Given the description of an element on the screen output the (x, y) to click on. 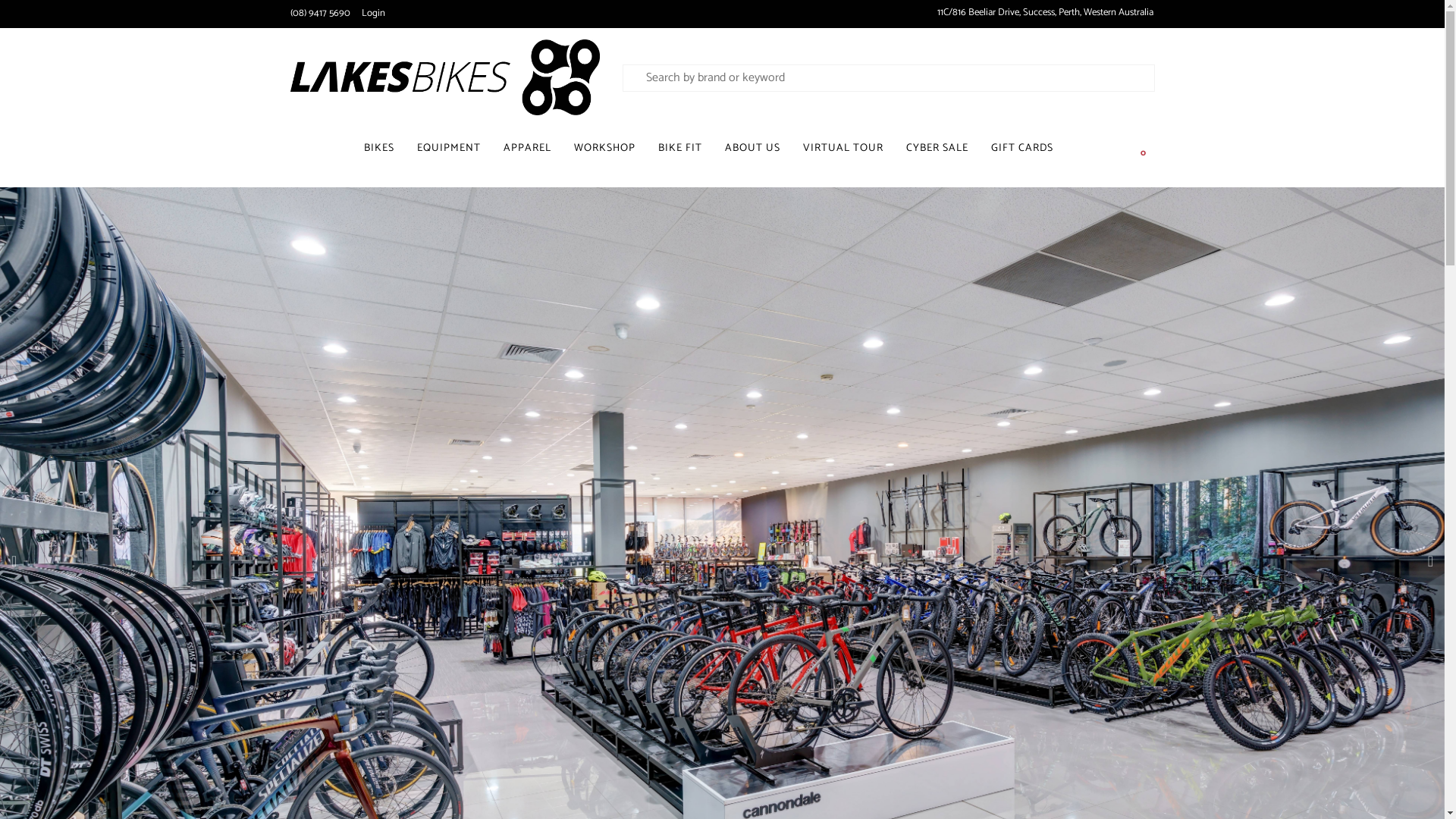
NEXT Element type: text (1395, 560)
GIFT CARDS Element type: text (1025, 152)
Login Element type: text (372, 13)
WORKSHOP Element type: text (607, 152)
EQUIPMENT Element type: text (452, 152)
CYBER SALE Element type: text (940, 152)
APPAREL Element type: text (530, 152)
0 Element type: text (1142, 151)
ABOUT US Element type: text (755, 152)
VIRTUAL TOUR Element type: text (846, 152)
BIKE FIT Element type: text (683, 152)
(08) 9417 5690 Element type: text (319, 13)
PREVIOUS Element type: text (49, 591)
Lakes Bikes Element type: hover (444, 77)
BIKES Element type: text (382, 152)
